Given the description of an element on the screen output the (x, y) to click on. 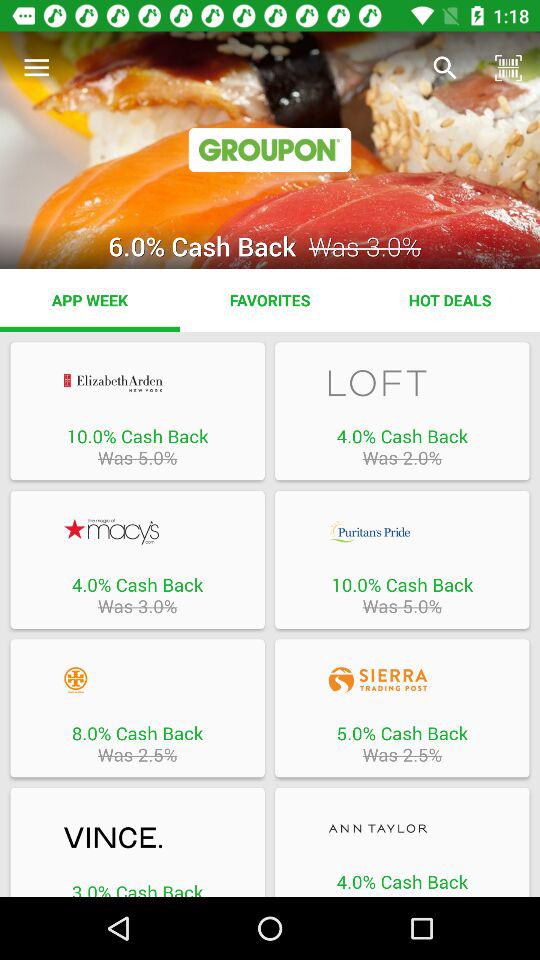
select the deals (137, 838)
